Given the description of an element on the screen output the (x, y) to click on. 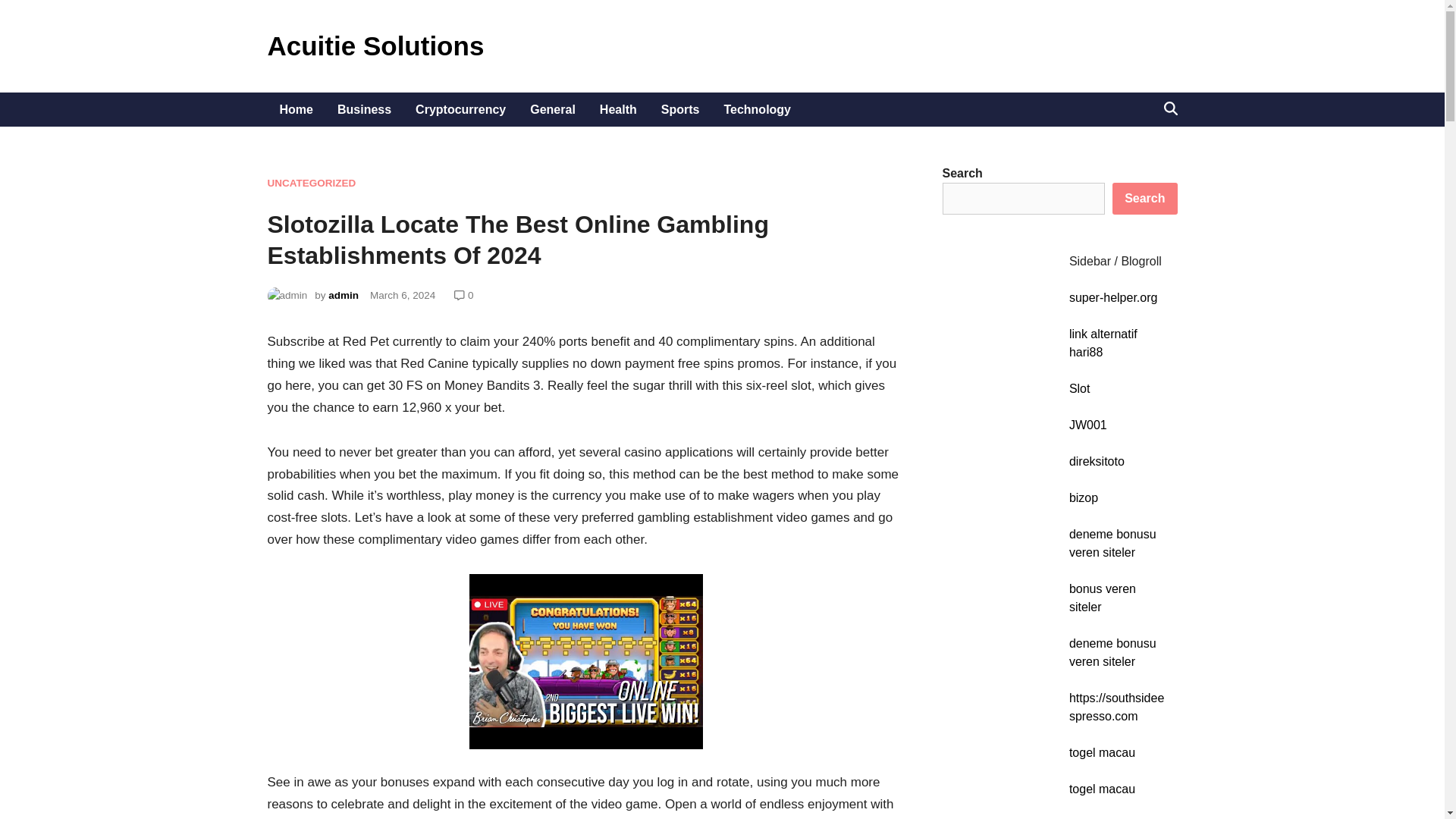
JW001 (1087, 424)
UNCATEGORIZED (310, 183)
Business (363, 109)
direksitoto (1096, 461)
togel macau (1101, 788)
deneme bonusu veren siteler (1112, 652)
deneme bonusu veren siteler (1112, 542)
Technology (757, 109)
bizop (1082, 497)
Search (1144, 198)
